Given the description of an element on the screen output the (x, y) to click on. 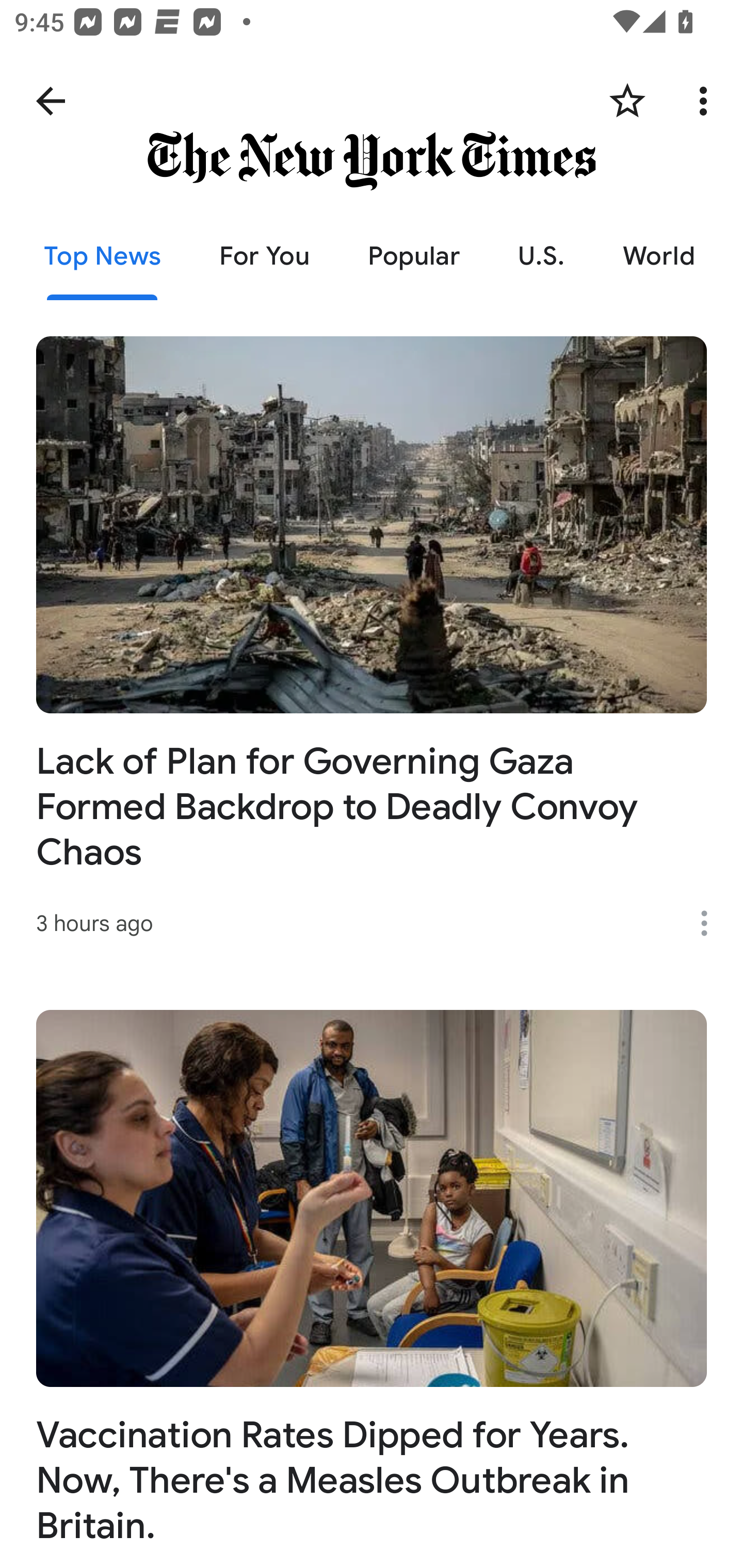
Navigate up (50, 101)
Follow (626, 101)
More options (706, 101)
For You (264, 256)
Popular (413, 256)
U.S. (540, 256)
World (658, 256)
More options (711, 923)
